Given the description of an element on the screen output the (x, y) to click on. 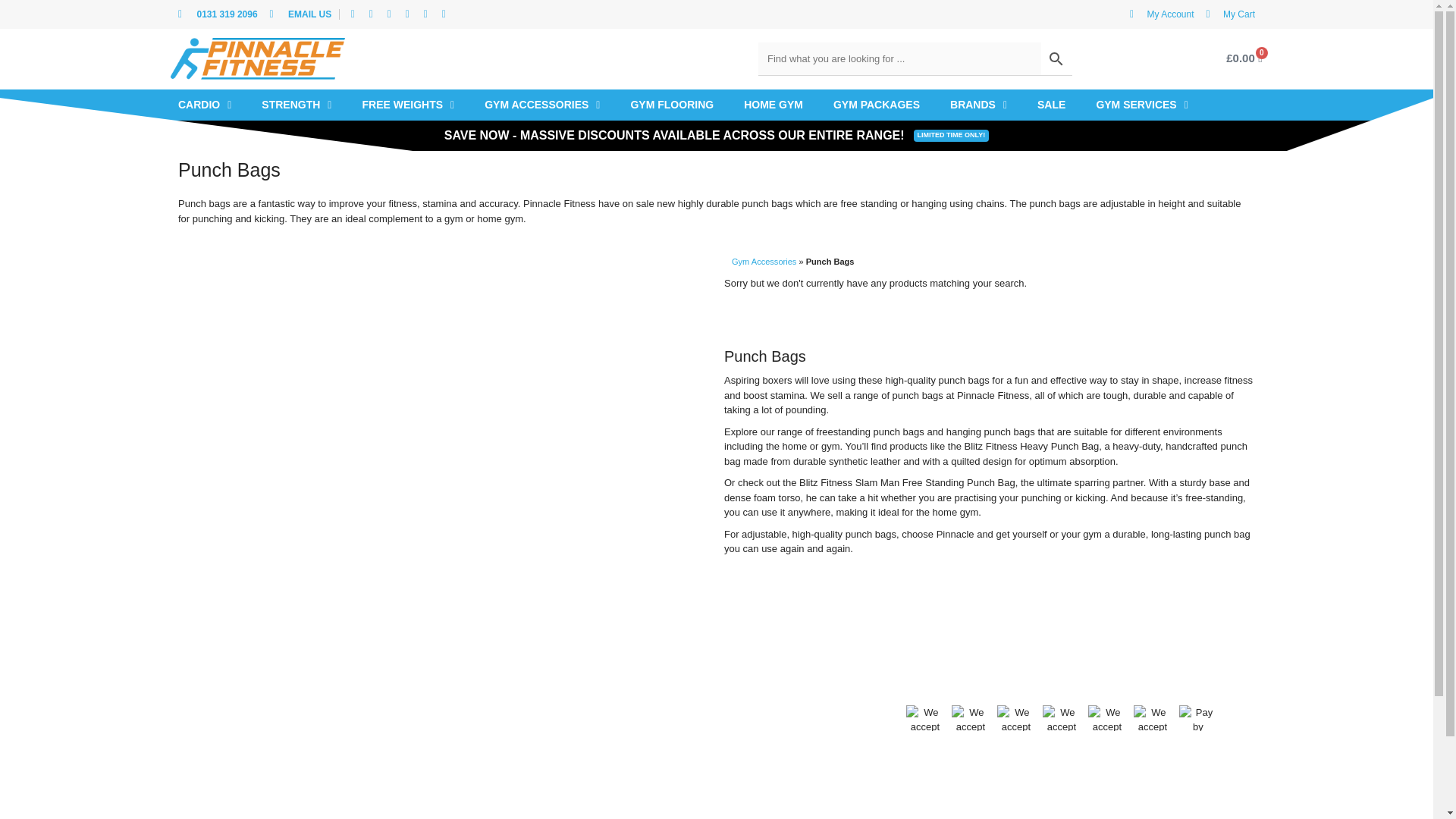
0131 319 2096 (217, 14)
EMAIL US (300, 14)
STRENGTH (296, 104)
My Account (1161, 14)
My Cart (1230, 14)
CARDIO (204, 104)
